Given the description of an element on the screen output the (x, y) to click on. 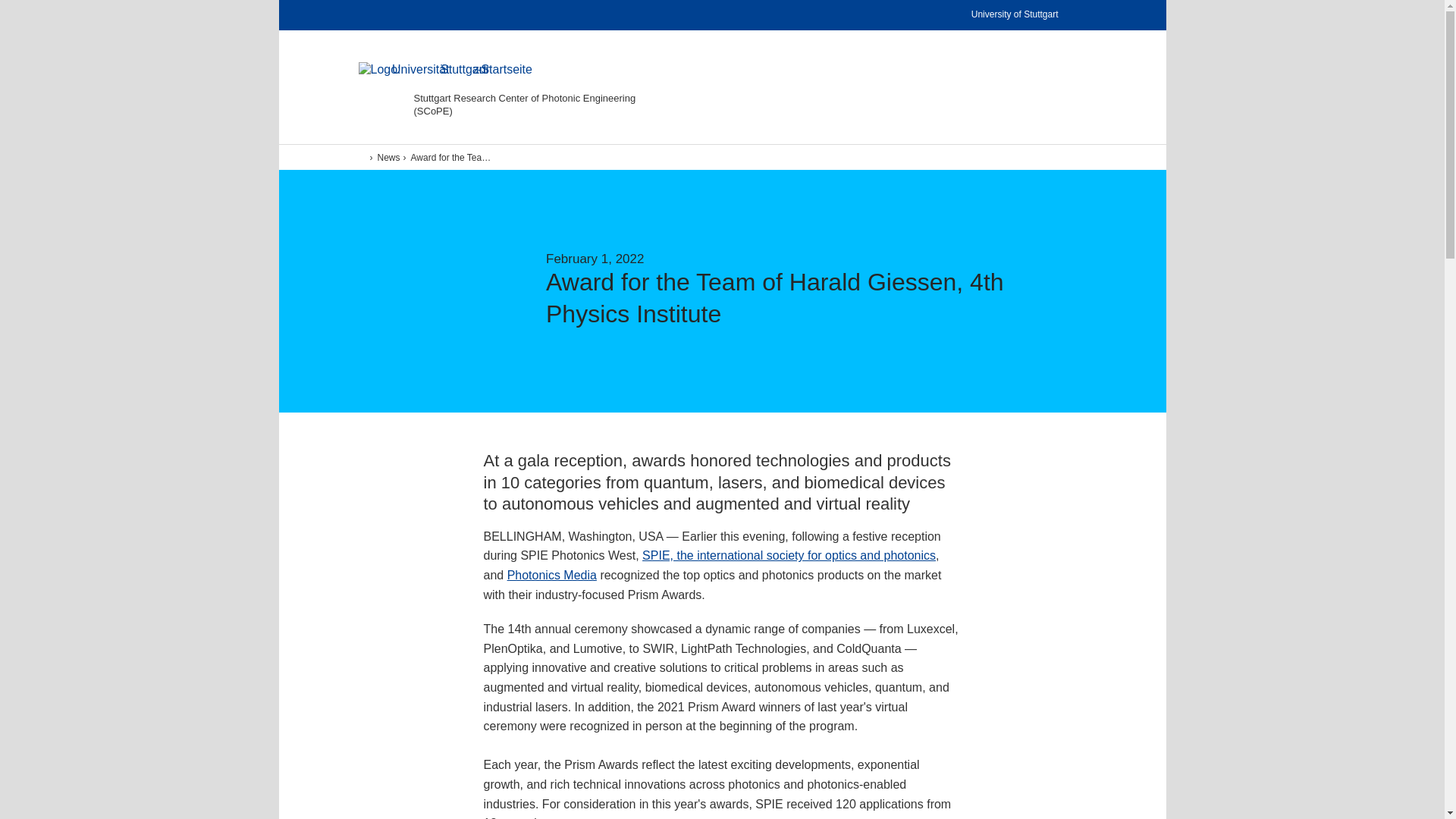
Main navigation (1070, 84)
News (383, 156)
Photonics Media (551, 574)
Award for the Team of Harald Giessen, 4th Physics Institute (449, 156)
Award for the Team of Harald Giessen, 4th Physics Institute (447, 156)
News (384, 156)
News (384, 156)
University of Stuttgart (1026, 15)
SPIE, the international society for optics and photonics (789, 554)
Search (1035, 84)
search (1049, 177)
